Given the description of an element on the screen output the (x, y) to click on. 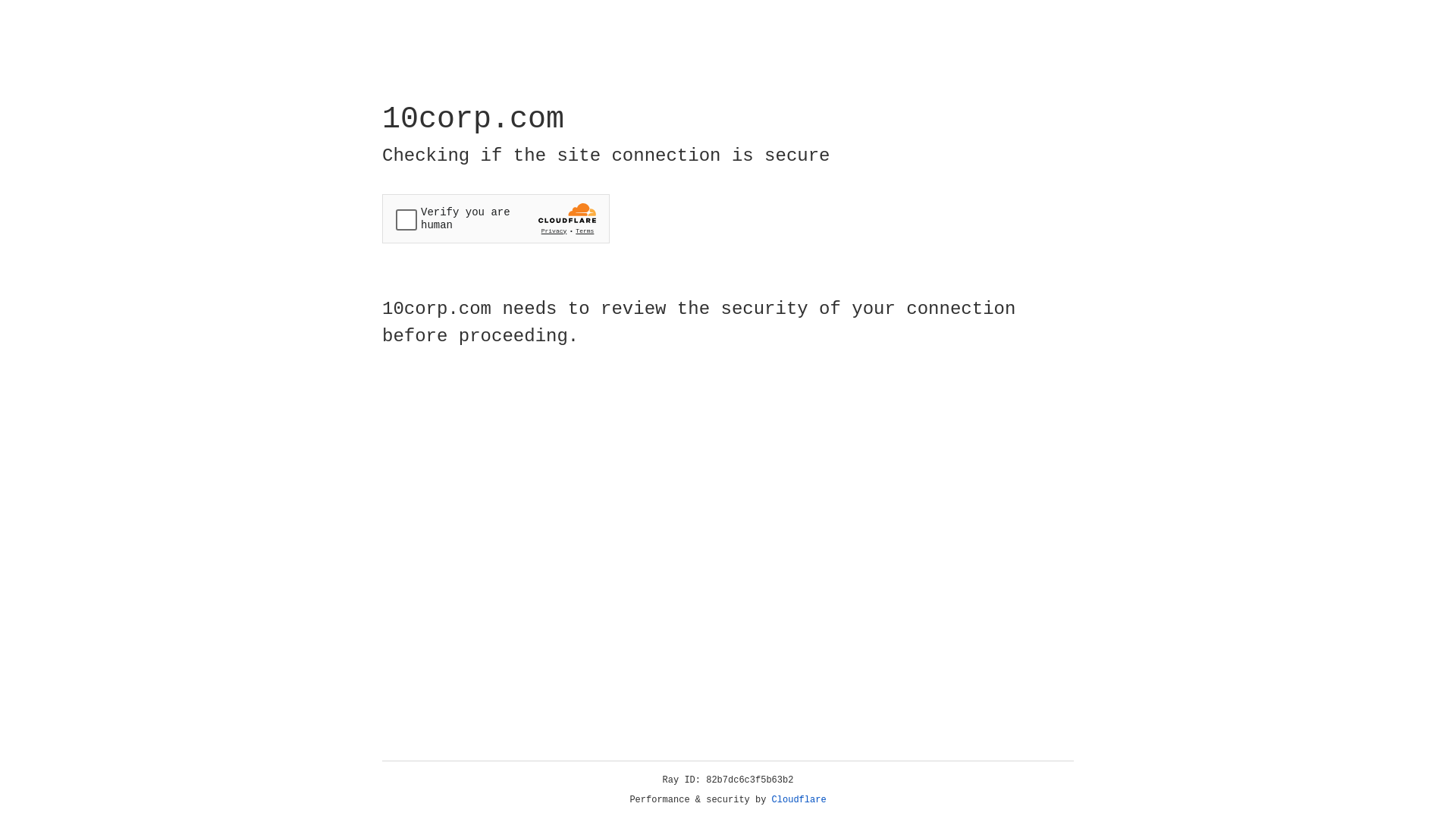
Cloudflare Element type: text (798, 799)
Widget containing a Cloudflare security challenge Element type: hover (495, 218)
